Given the description of an element on the screen output the (x, y) to click on. 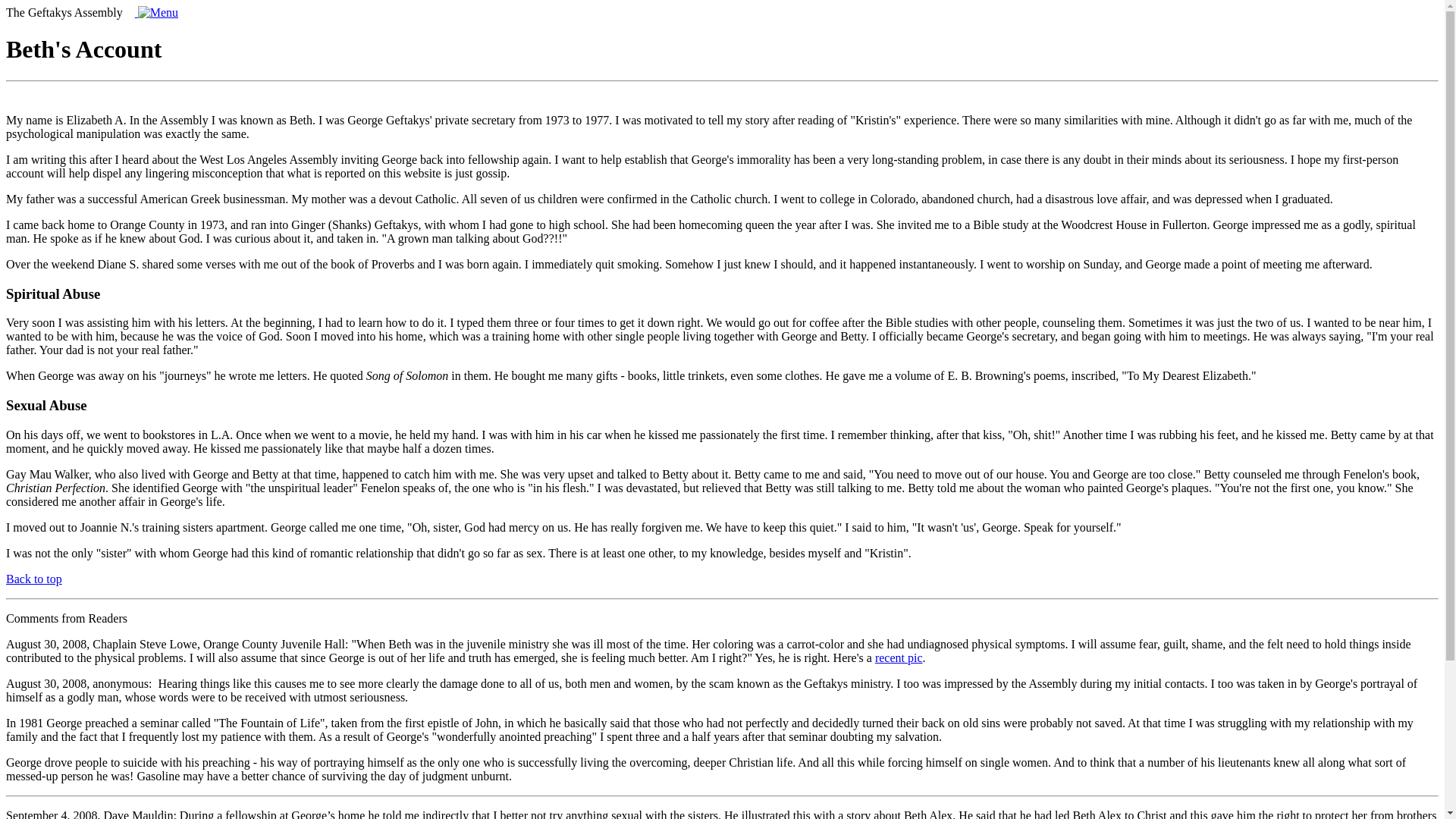
Back to top (33, 578)
recent pic (899, 657)
August 30, 2008, anonymous: (78, 683)
